Given the description of an element on the screen output the (x, y) to click on. 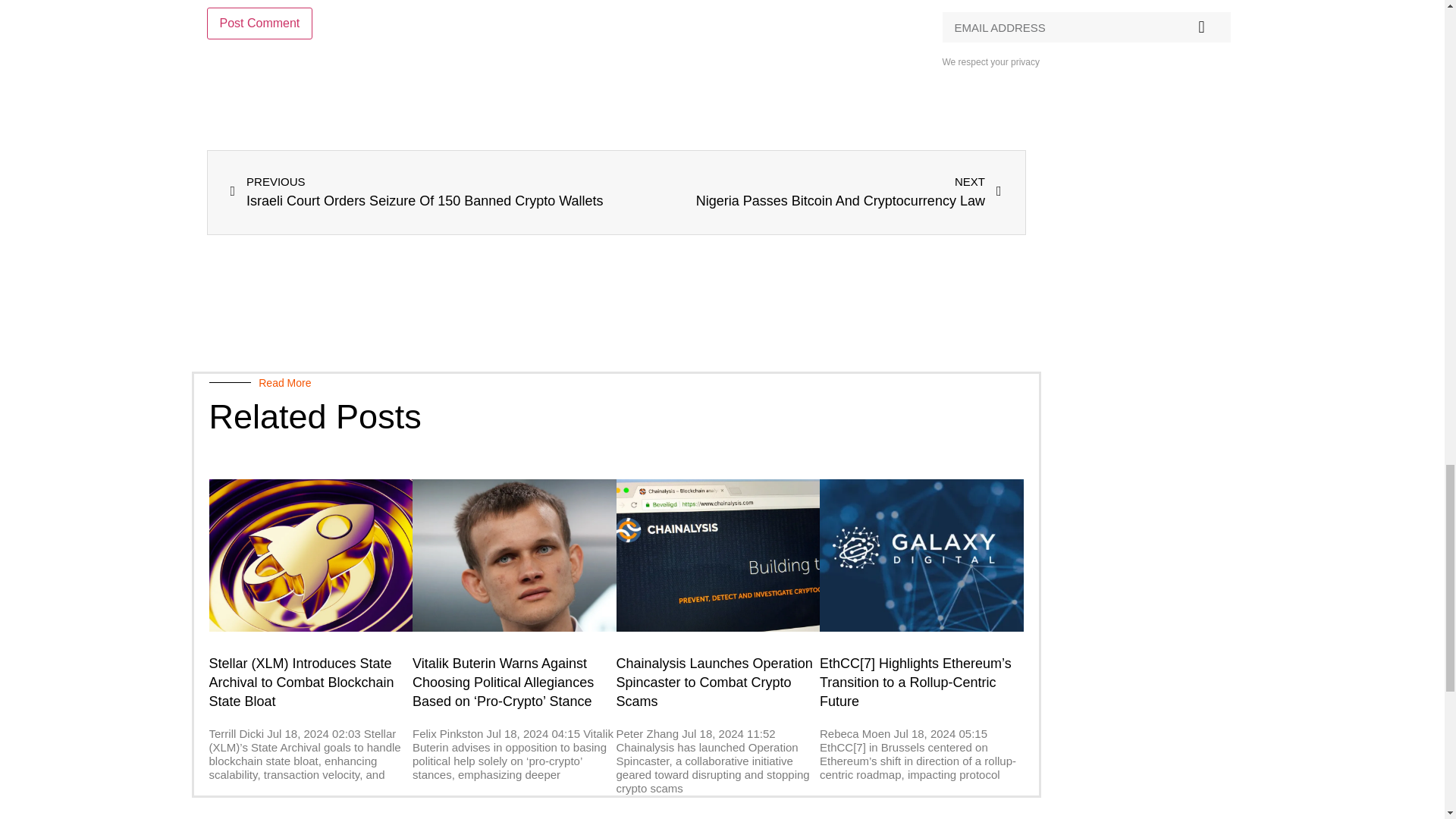
Post Comment (259, 23)
